Given the description of an element on the screen output the (x, y) to click on. 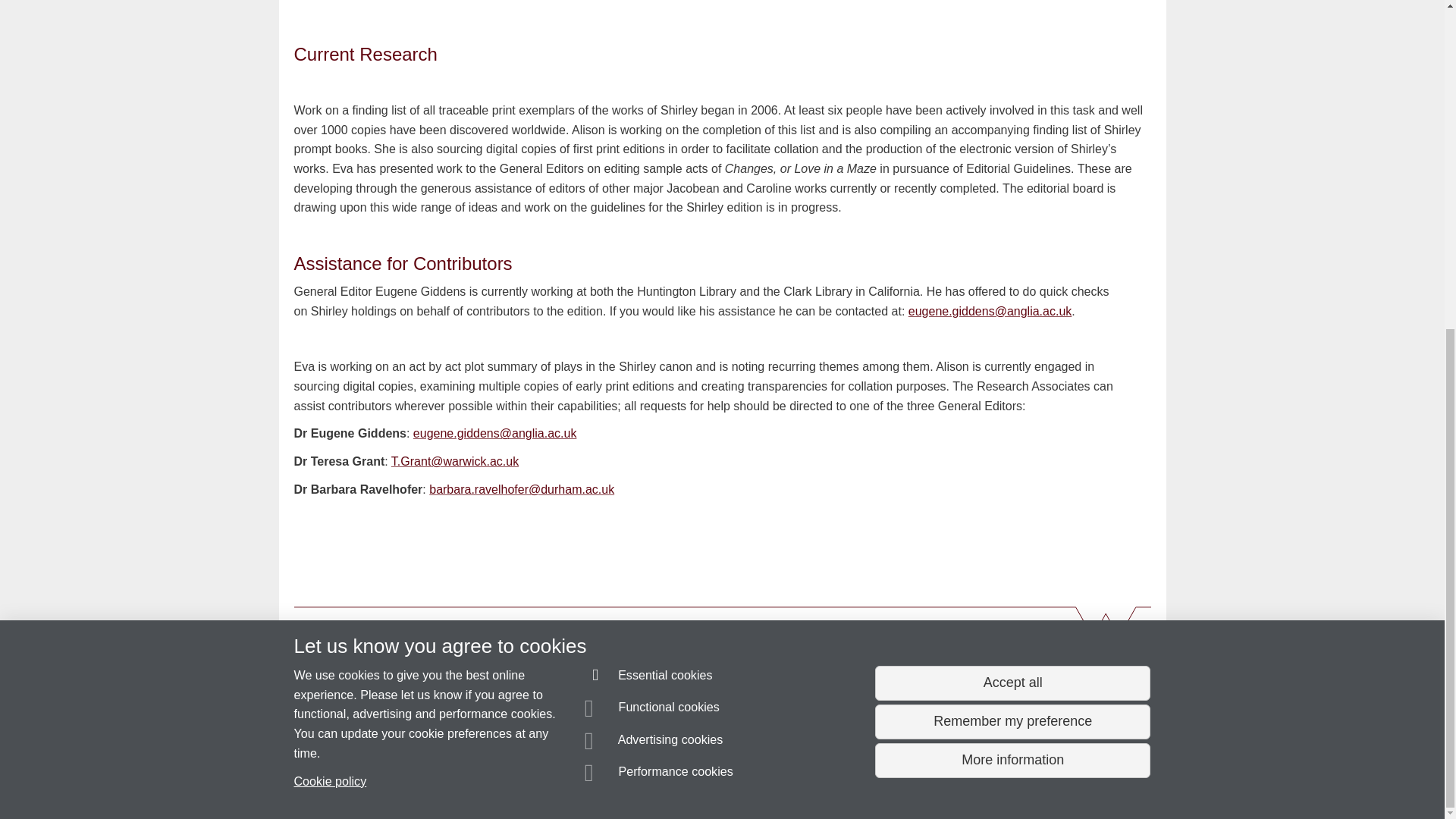
Accept all functional, advertising and performance cookies (1012, 140)
Terms of use (708, 780)
Support the Renaissance Centre (991, 703)
Essential cookies are always on (649, 134)
Centre for the Study of the Renaissance on Twitter (938, 660)
More information about SiteBuilder (365, 780)
